Given the description of an element on the screen output the (x, y) to click on. 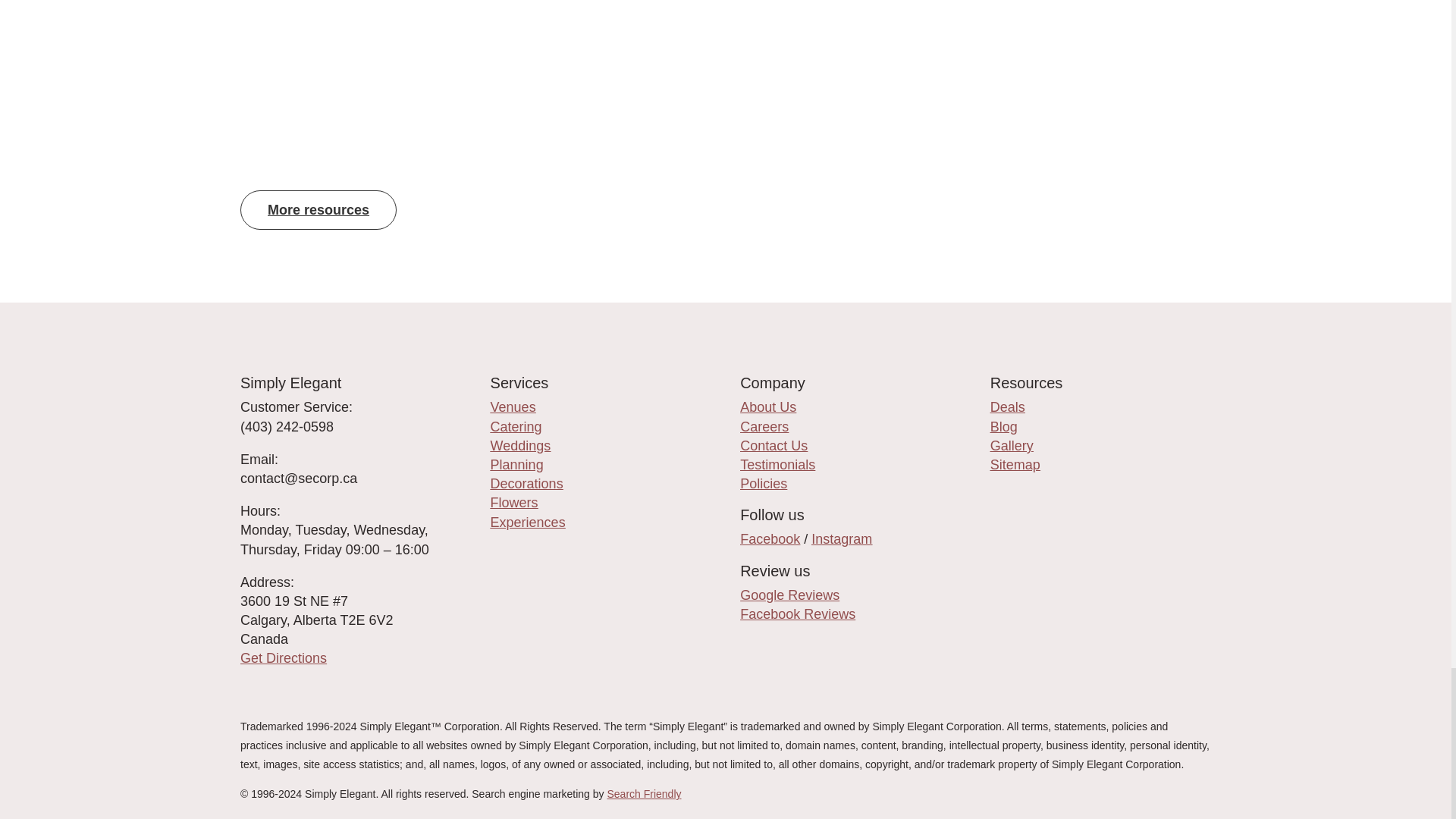
Get Directions (283, 657)
Catering (515, 426)
Contact Us (773, 445)
More resources (318, 210)
Flowers (514, 502)
Planning (516, 464)
About Us (767, 406)
Careers (764, 426)
Decorations (526, 483)
Venues (512, 406)
Weddings (520, 445)
Experiences (528, 522)
